Given the description of an element on the screen output the (x, y) to click on. 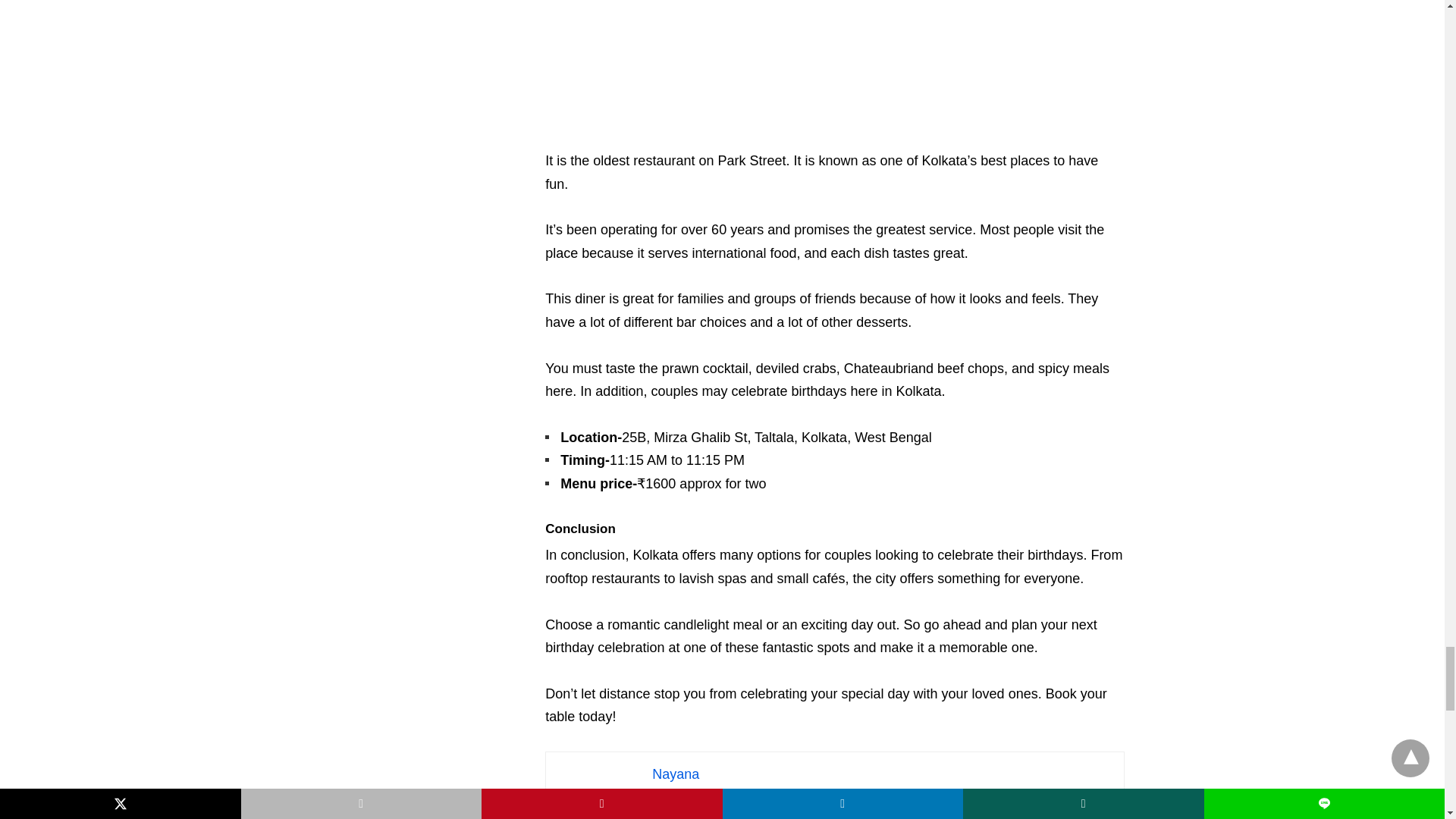
Nayana (675, 774)
